Given the description of an element on the screen output the (x, y) to click on. 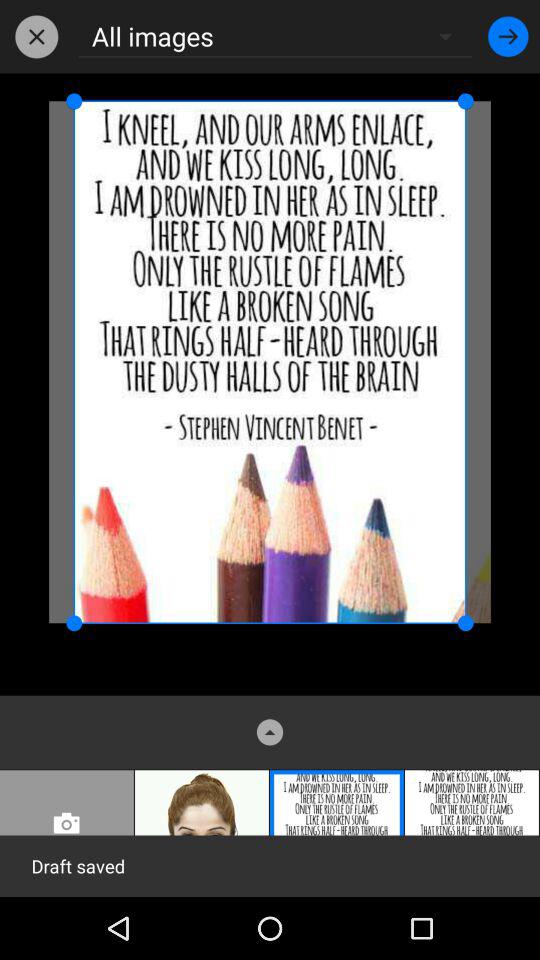
tap icon next to all images item (36, 36)
